Given the description of an element on the screen output the (x, y) to click on. 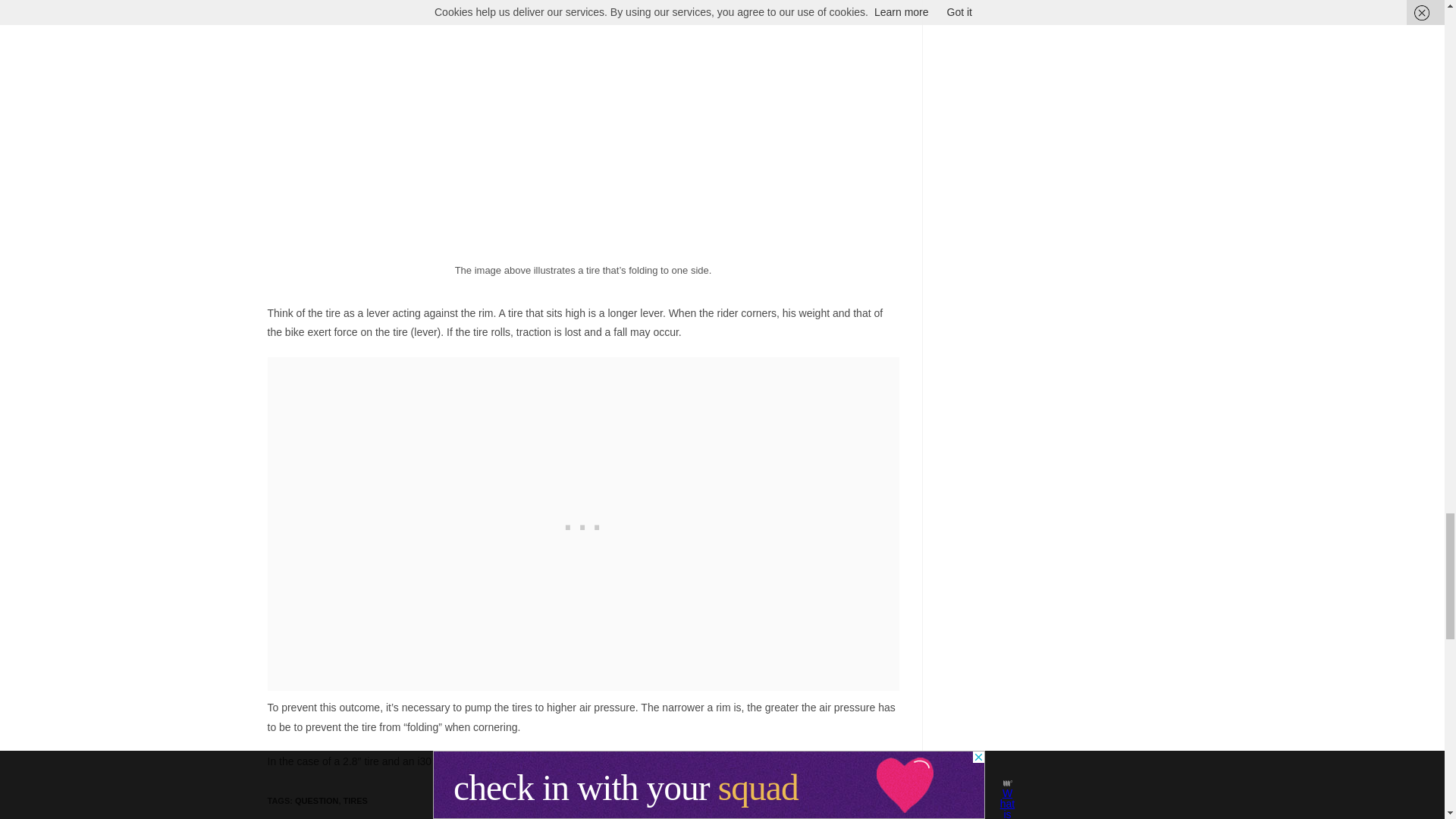
TIRES (355, 800)
QUESTION (316, 800)
